Given the description of an element on the screen output the (x, y) to click on. 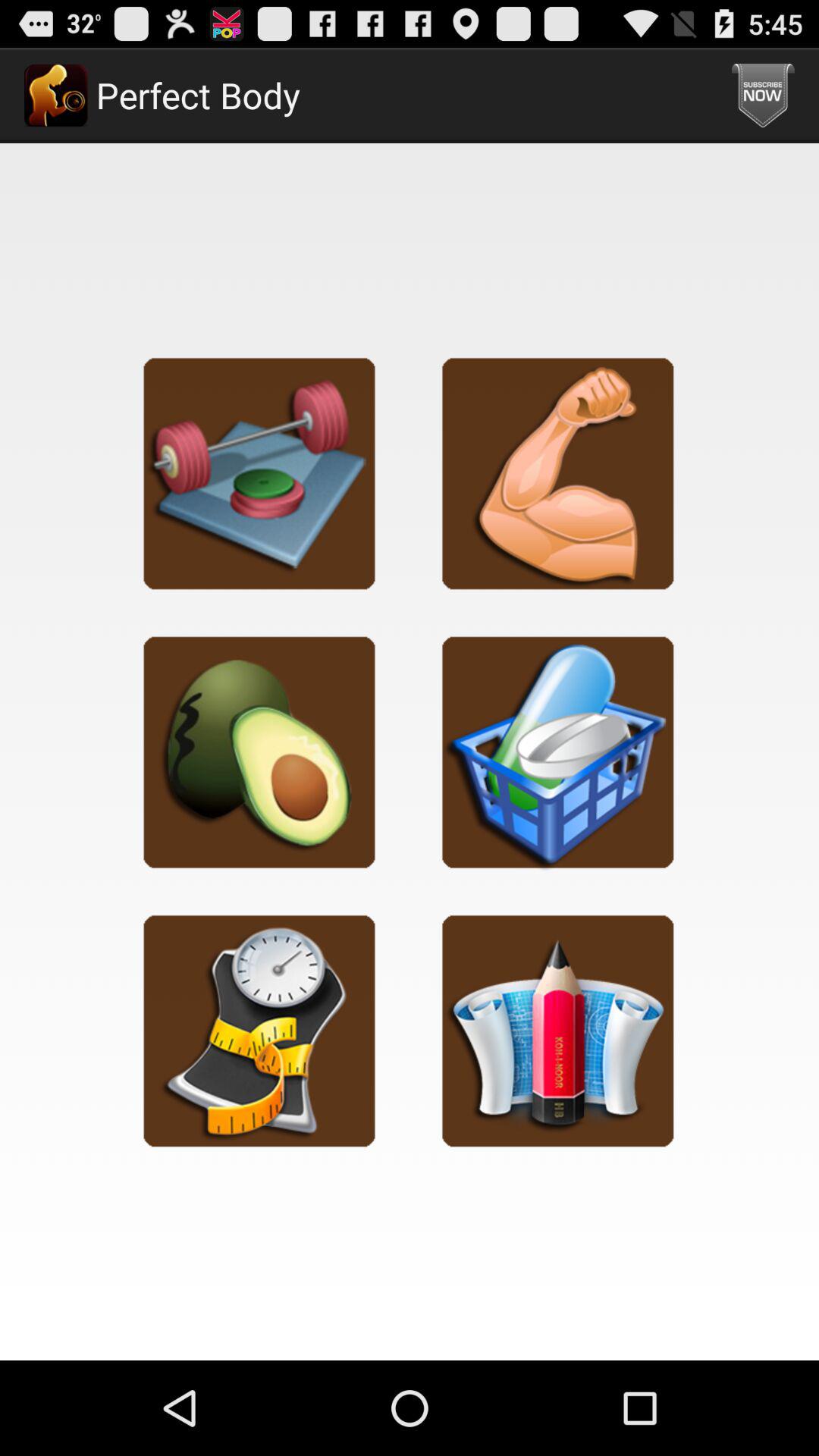
weight lifting (259, 472)
